Given the description of an element on the screen output the (x, y) to click on. 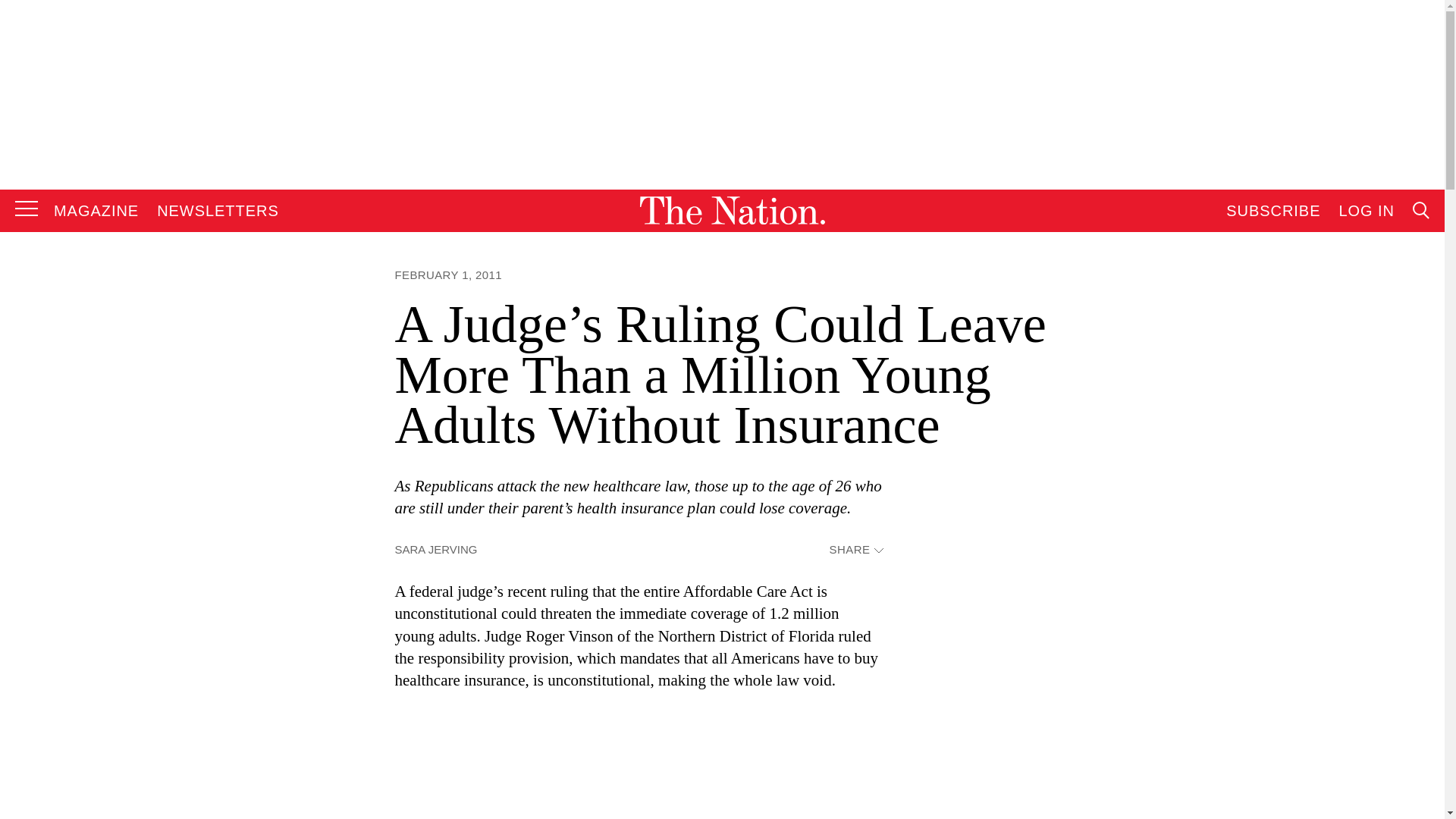
SUBSCRIBE (1272, 210)
NEWSLETTERS (218, 210)
SARA JERVING (435, 549)
MAGAZINE (95, 210)
Search (1278, 364)
SHARE (855, 549)
LOG IN (1366, 210)
